Given the description of an element on the screen output the (x, y) to click on. 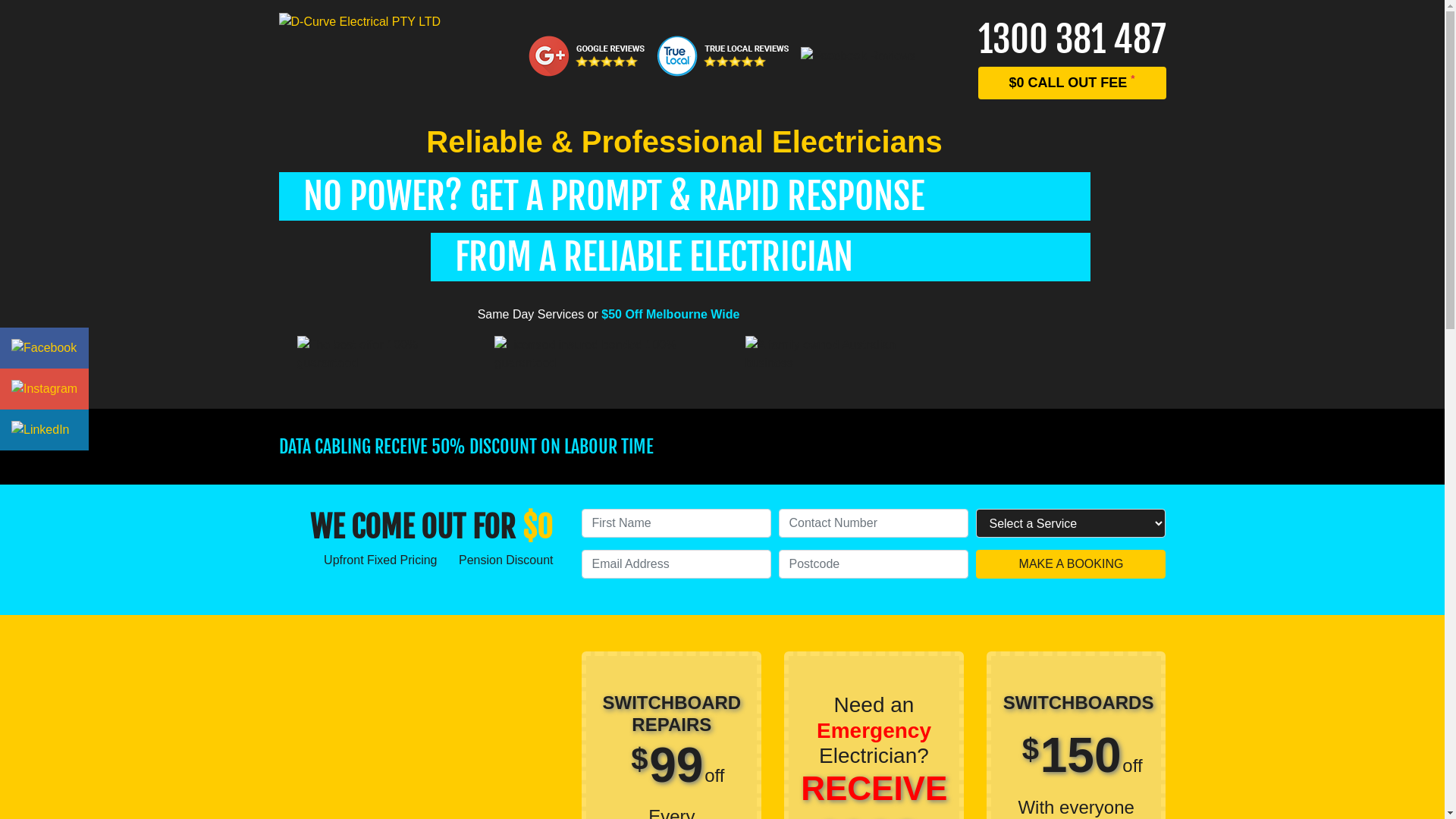
MAKE A BOOKING Element type: text (1070, 563)
1300 381 487
$0 CALL OUT FEE * Element type: text (1072, 55)
